Given the description of an element on the screen output the (x, y) to click on. 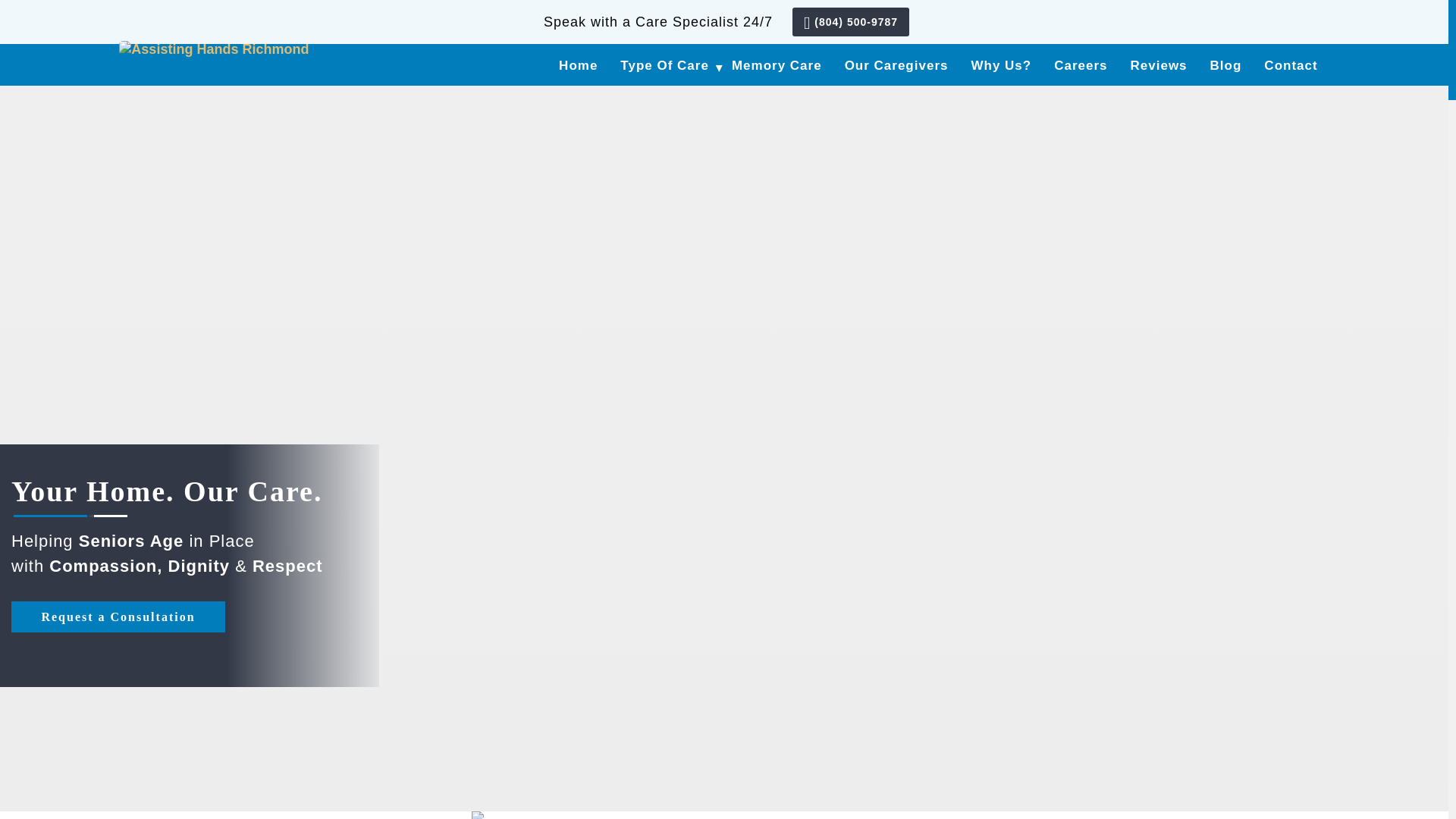
Why Us? (1000, 64)
Careers (1079, 64)
Memory Care (776, 64)
Type Of Care (664, 64)
Careers (1079, 64)
Home (577, 64)
Contact (1290, 64)
Type Of Care (664, 64)
Memory Care (776, 64)
Blog (1226, 64)
Contact (1290, 64)
Request a Consultation (118, 616)
Why Us? (1000, 64)
Reviews (1158, 64)
Home (577, 64)
